Given the description of an element on the screen output the (x, y) to click on. 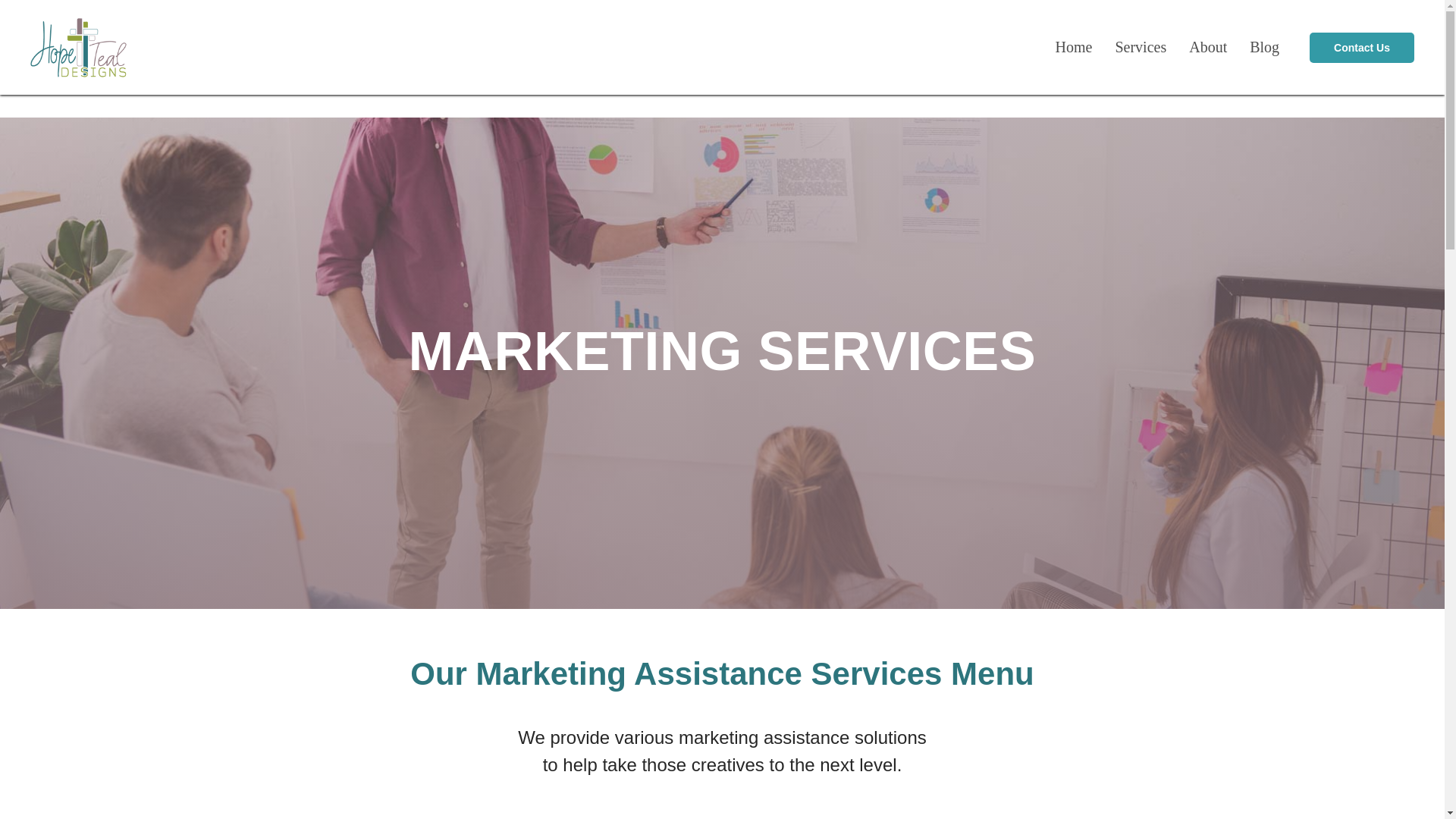
About (1208, 46)
Home (1074, 46)
Blog (1264, 46)
Contact Us (1360, 46)
Services (1140, 46)
